Given the description of an element on the screen output the (x, y) to click on. 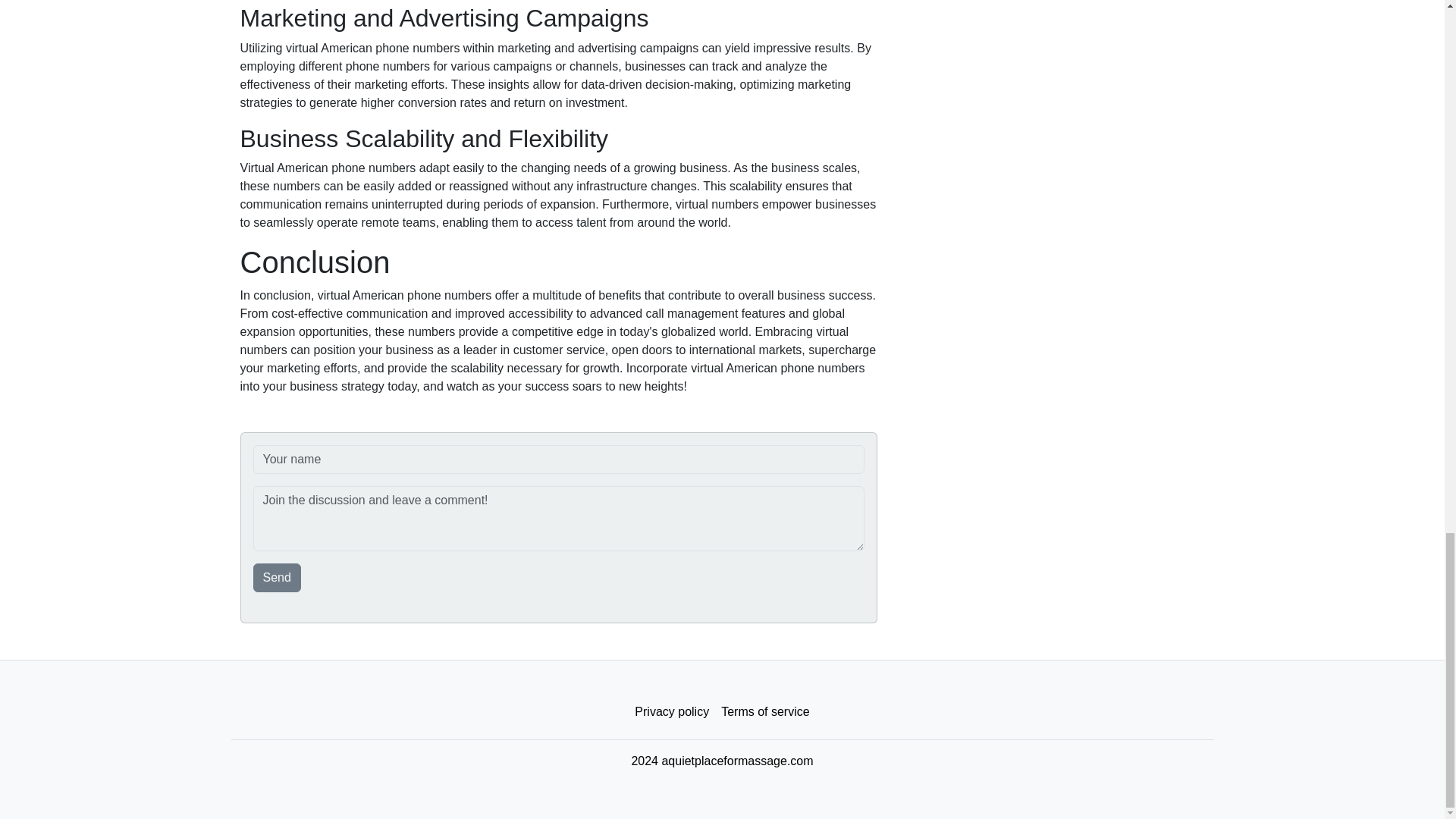
Privacy policy (671, 711)
Send (277, 577)
Terms of service (764, 711)
Send (277, 577)
